Given the description of an element on the screen output the (x, y) to click on. 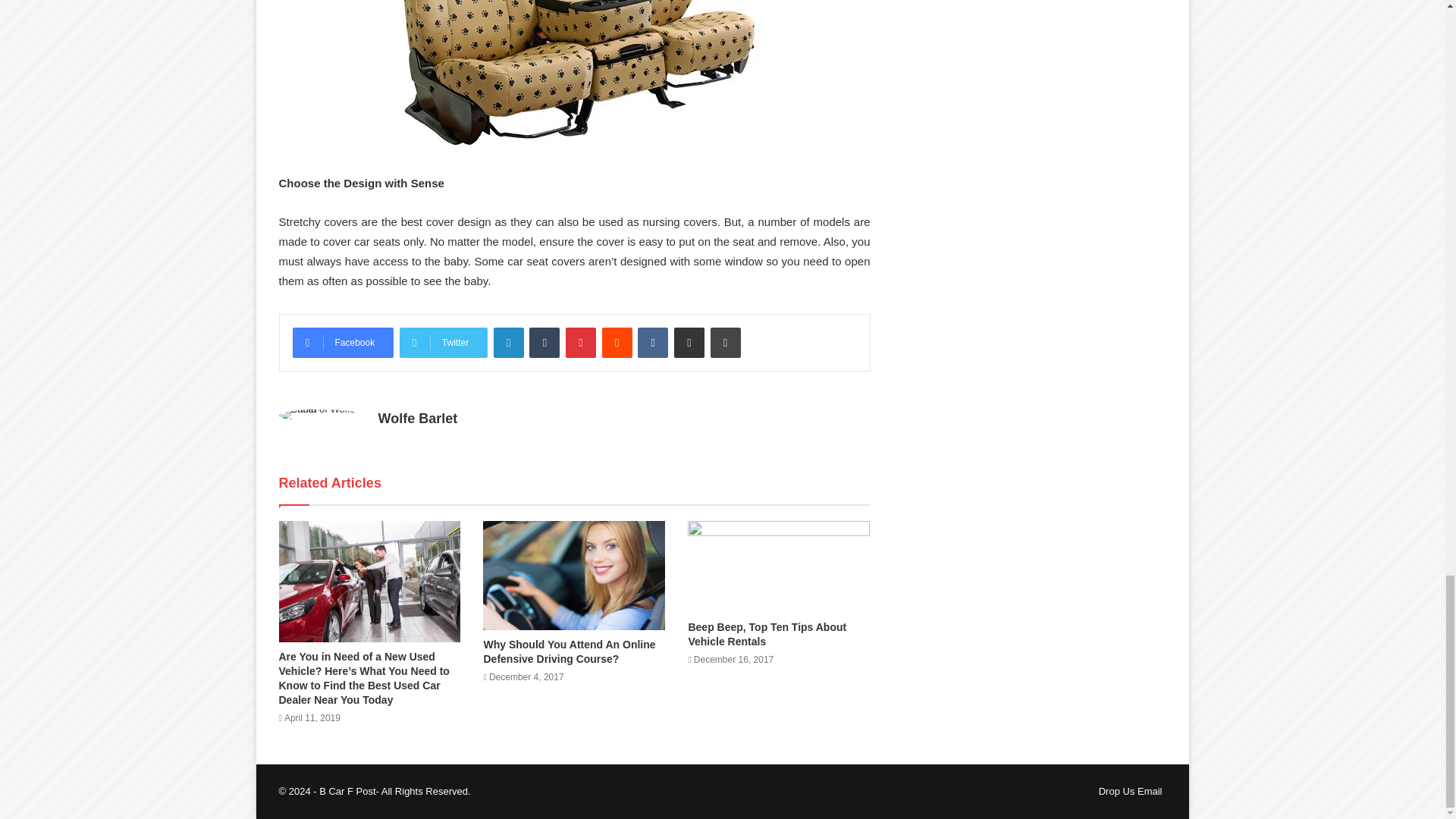
Reddit (616, 342)
Twitter (442, 342)
Facebook (343, 342)
Tumblr (544, 342)
LinkedIn (508, 342)
Pinterest (580, 342)
Share via Email (689, 342)
Wolfe Barlet (417, 418)
LinkedIn (508, 342)
Reddit (616, 342)
VKontakte (652, 342)
VKontakte (652, 342)
Print (725, 342)
Share via Email (689, 342)
Twitter (442, 342)
